Given the description of an element on the screen output the (x, y) to click on. 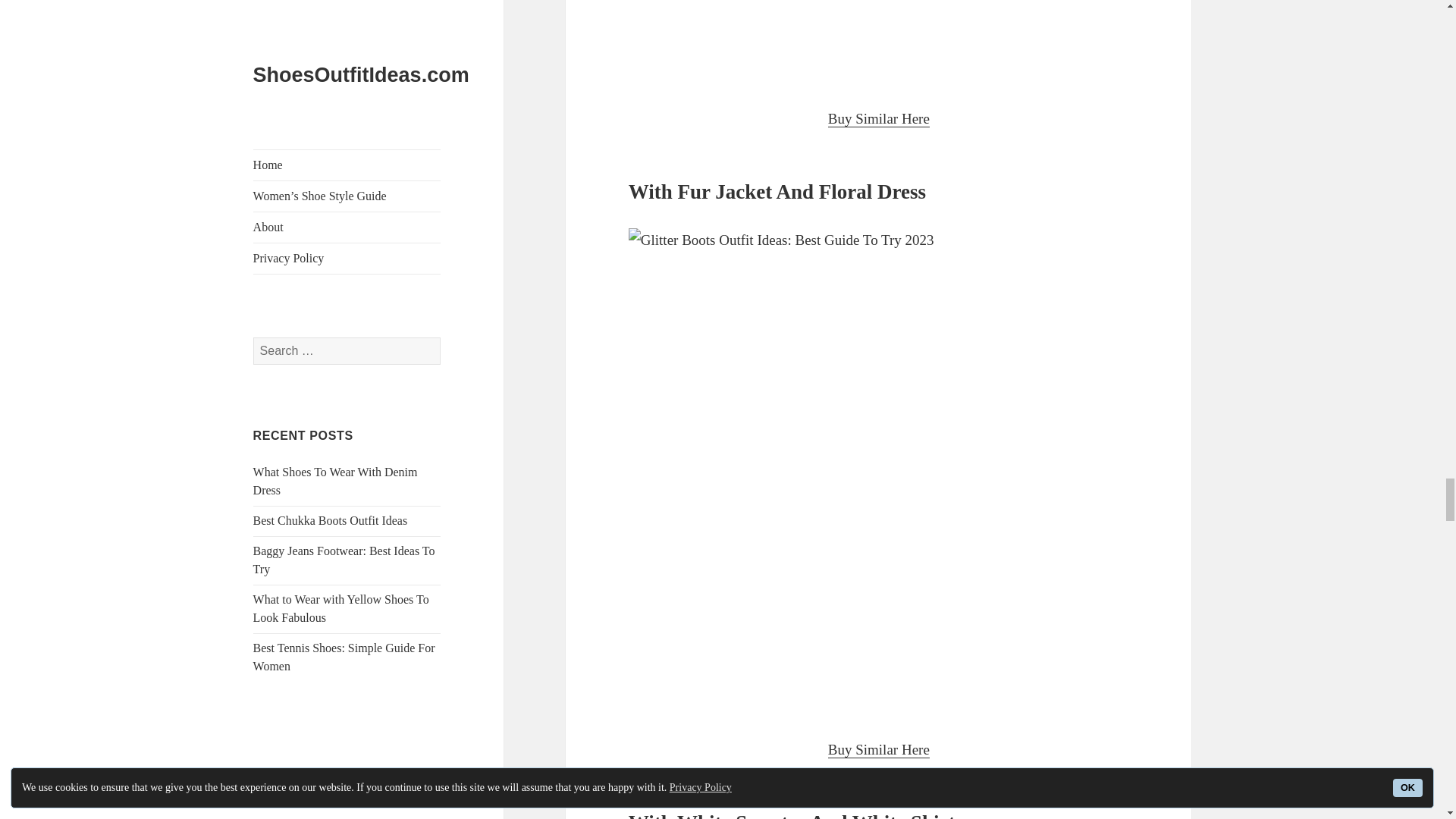
Buy Similar Here (879, 750)
Glitter Boots Outfit Ideas: Best Guide To Try 2023 (878, 41)
Buy Similar Here (879, 118)
